Given the description of an element on the screen output the (x, y) to click on. 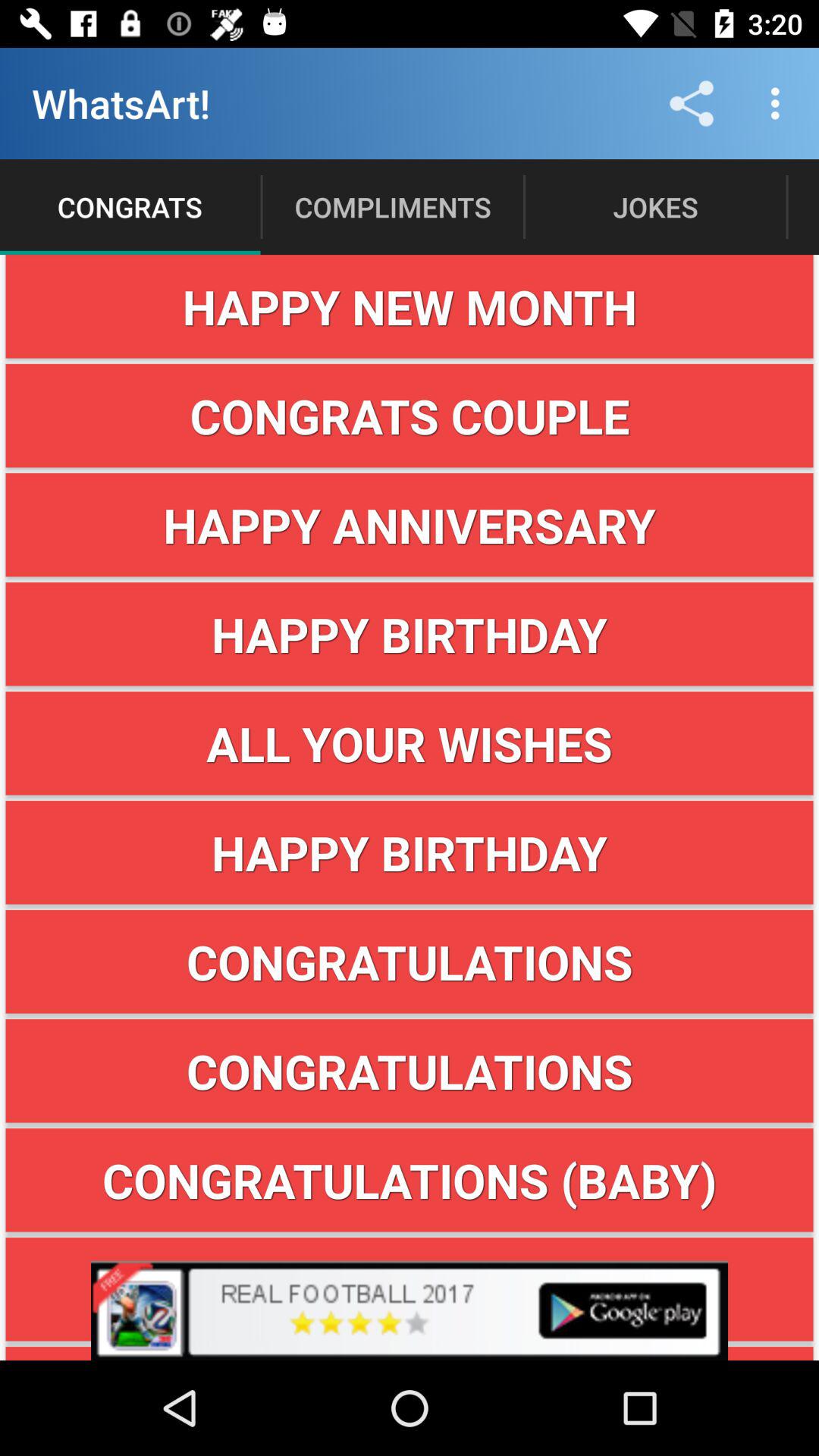
tap icon next to the compliments item (691, 103)
